Given the description of an element on the screen output the (x, y) to click on. 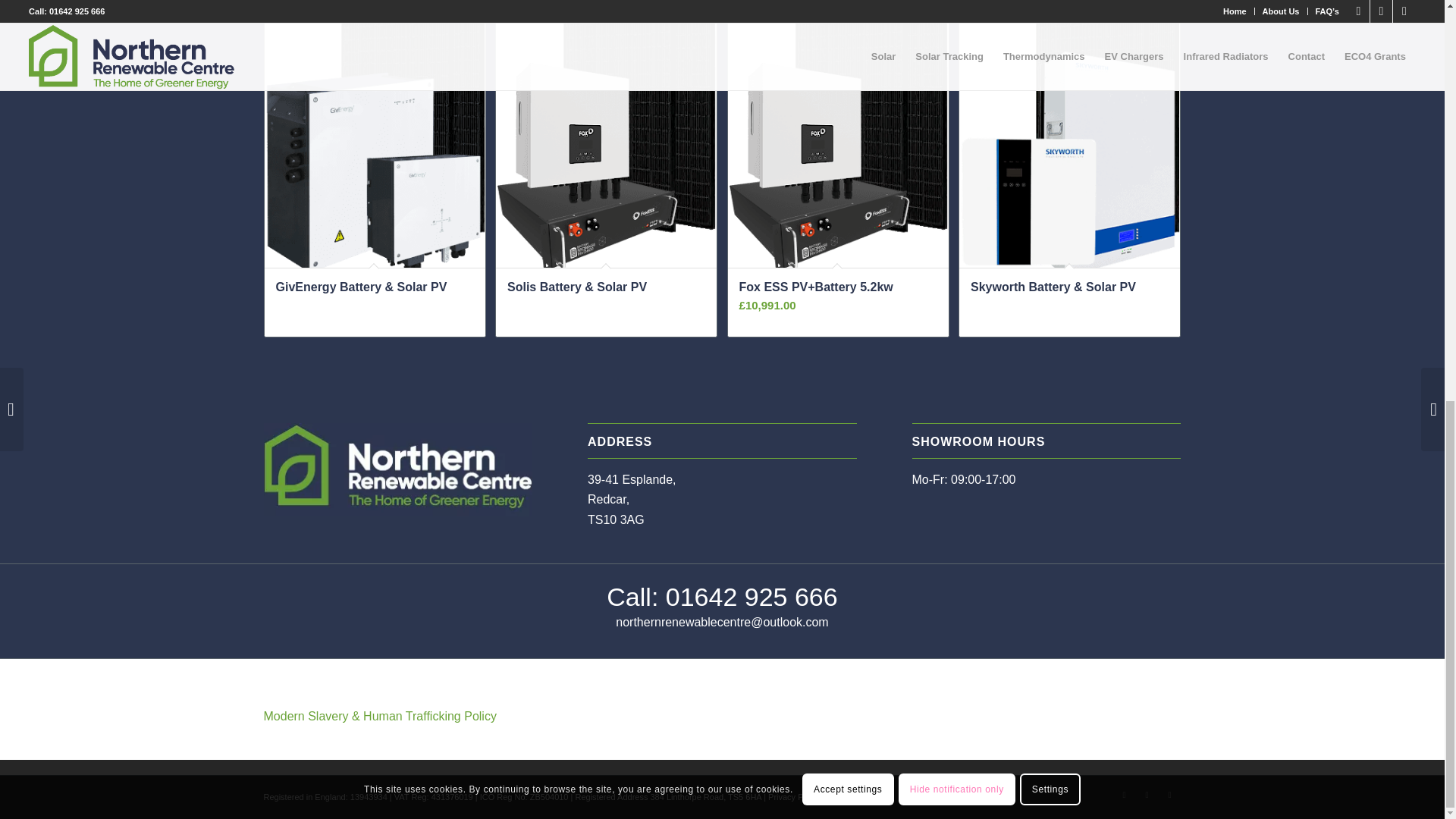
Twitter (1146, 793)
Facebook (1124, 793)
Privacy Policy (793, 796)
01642 925 666 (751, 596)
LinkedIn (1169, 793)
